Given the description of an element on the screen output the (x, y) to click on. 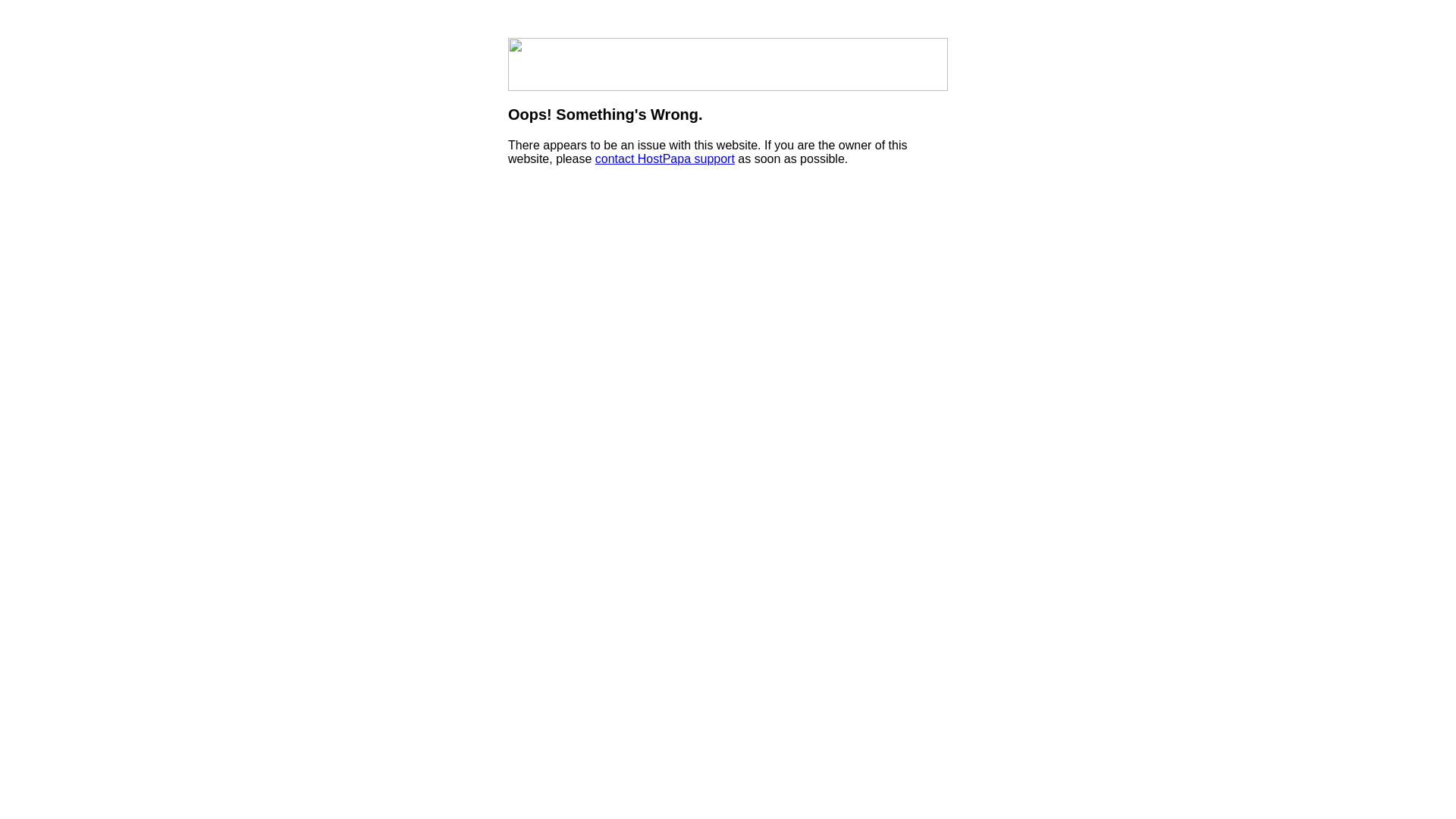
contact HostPapa support Element type: text (664, 158)
